Given the description of an element on the screen output the (x, y) to click on. 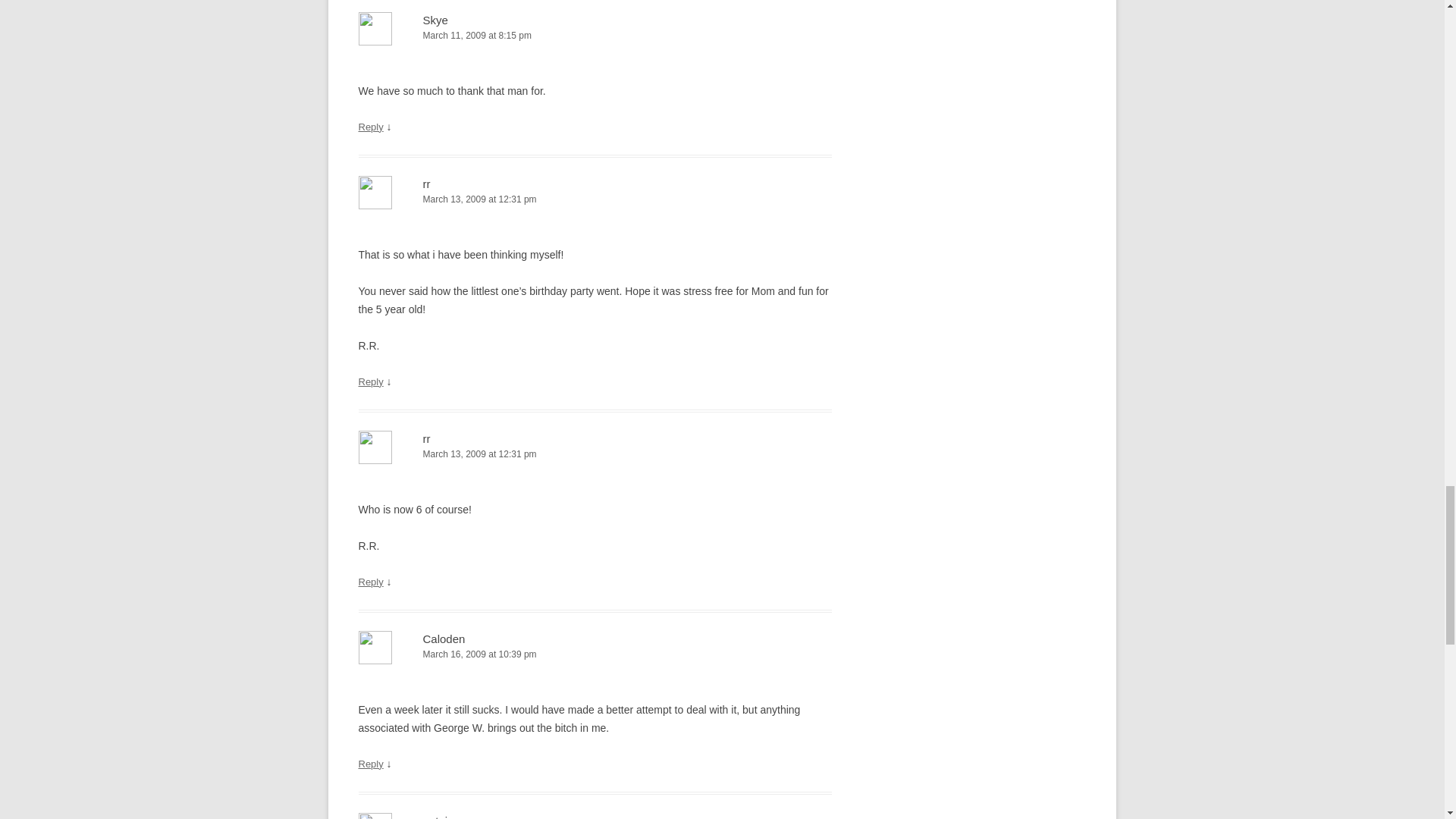
March 13, 2009 at 12:31 pm (594, 199)
Reply (370, 763)
Caloden (444, 638)
March 16, 2009 at 10:39 pm (594, 654)
Reply (370, 582)
patois (437, 816)
Reply (370, 381)
Reply (370, 126)
March 13, 2009 at 12:31 pm (594, 454)
March 11, 2009 at 8:15 pm (594, 35)
